Given the description of an element on the screen output the (x, y) to click on. 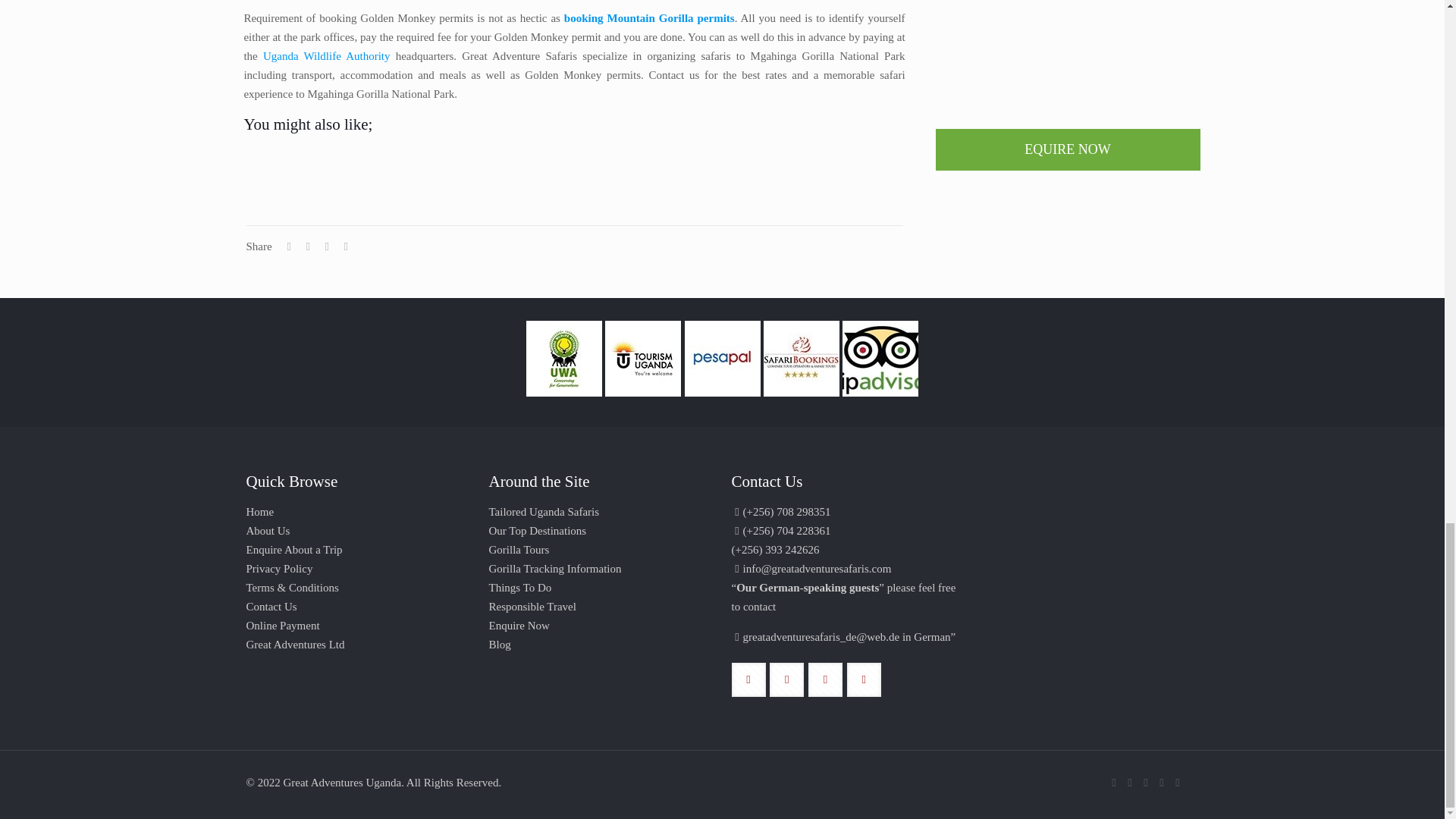
WhatsApp (1113, 782)
Instagram (1161, 782)
EQUIRE NOW (1067, 149)
Facebook (1129, 782)
